Given the description of an element on the screen output the (x, y) to click on. 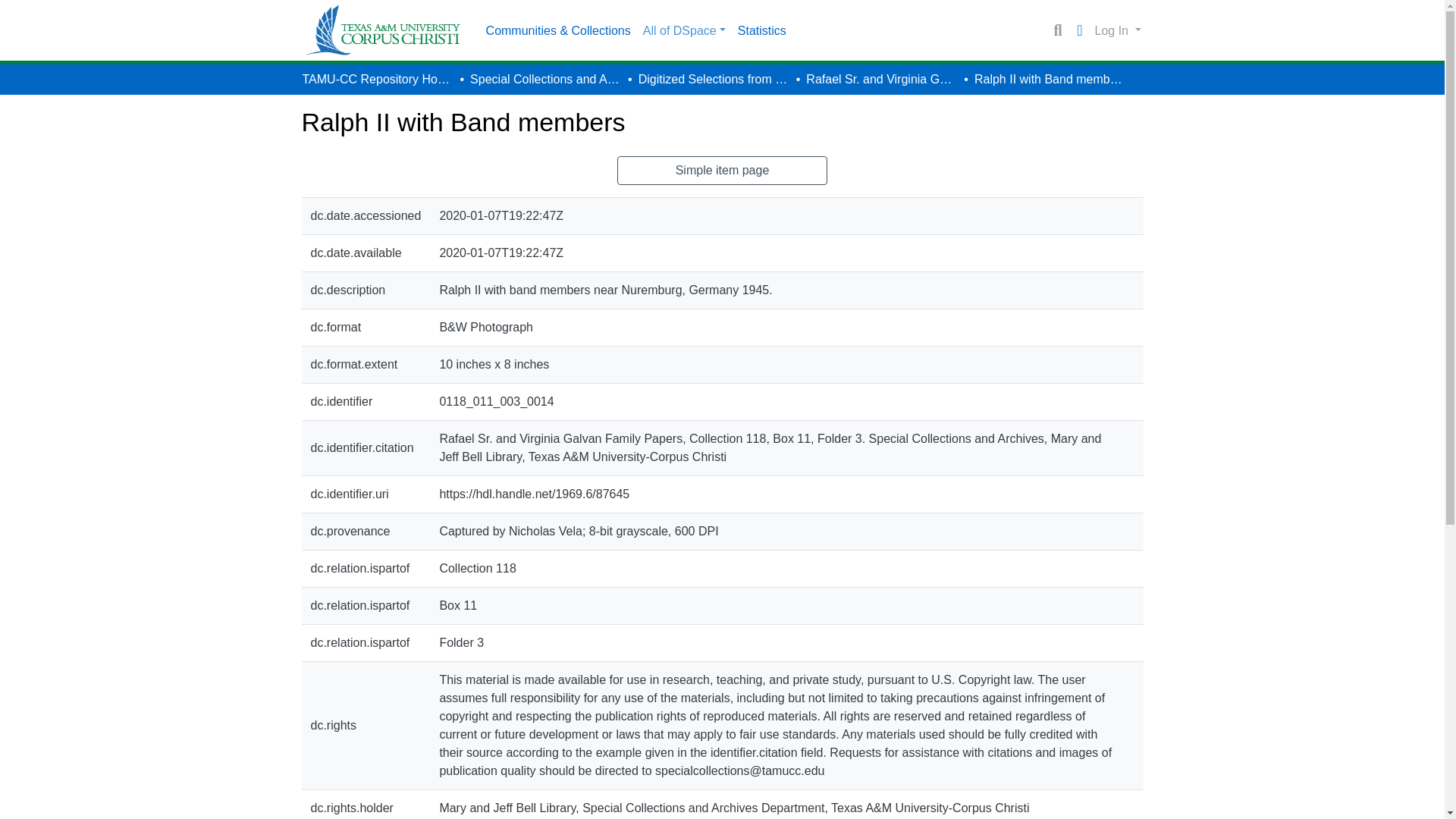
Log In (1117, 30)
TAMU-CC Repository Home (376, 79)
Statistics (762, 30)
Simple item page (722, 170)
Language switch (1079, 30)
All of DSpace (684, 30)
Statistics (762, 30)
Rafael Sr. and Virginia Galvan Family Papers (882, 79)
Special Collections and Archives (545, 79)
Search (1057, 30)
Digitized Selections from the Collections (714, 79)
